Given the description of an element on the screen output the (x, y) to click on. 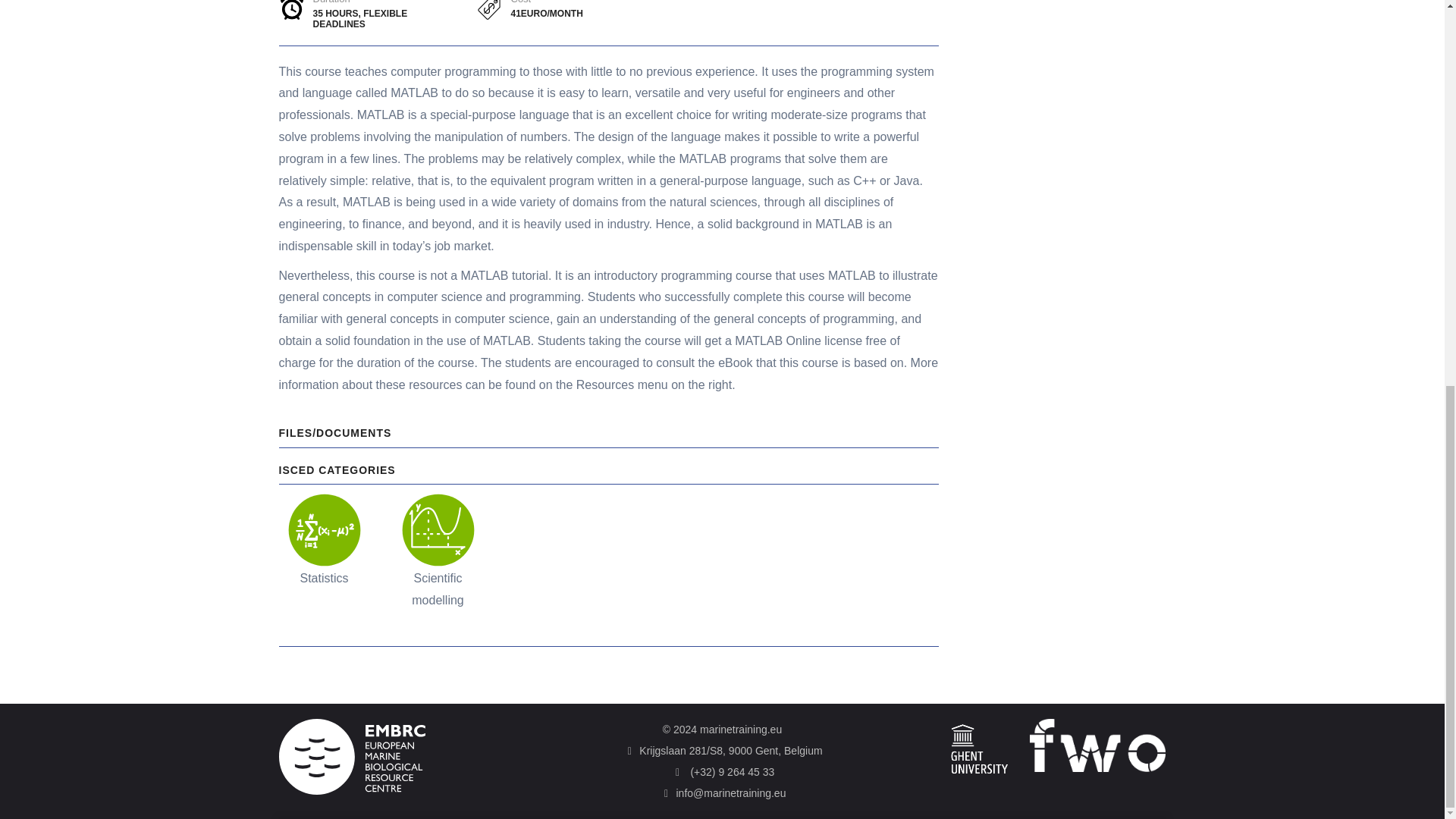
marinetraining.eu (740, 729)
